Given the description of an element on the screen output the (x, y) to click on. 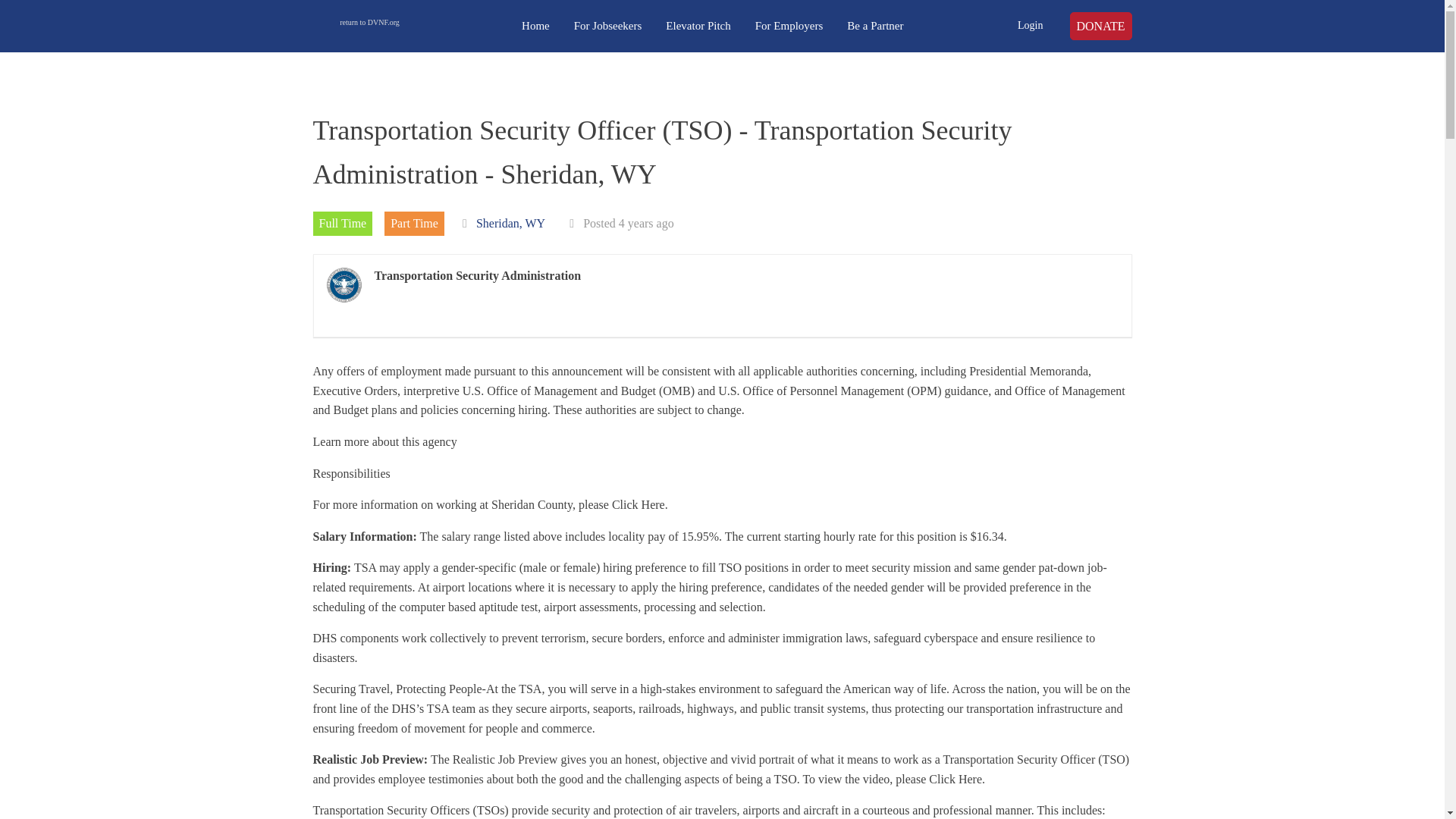
Sheridan, WY (510, 223)
Home (535, 26)
Be a Partner (874, 26)
For Employers (788, 26)
Elevator Pitch (697, 26)
Login (1030, 25)
For Jobseekers (607, 26)
DONATE (1099, 26)
return to DVNF.org (369, 26)
